Given the description of an element on the screen output the (x, y) to click on. 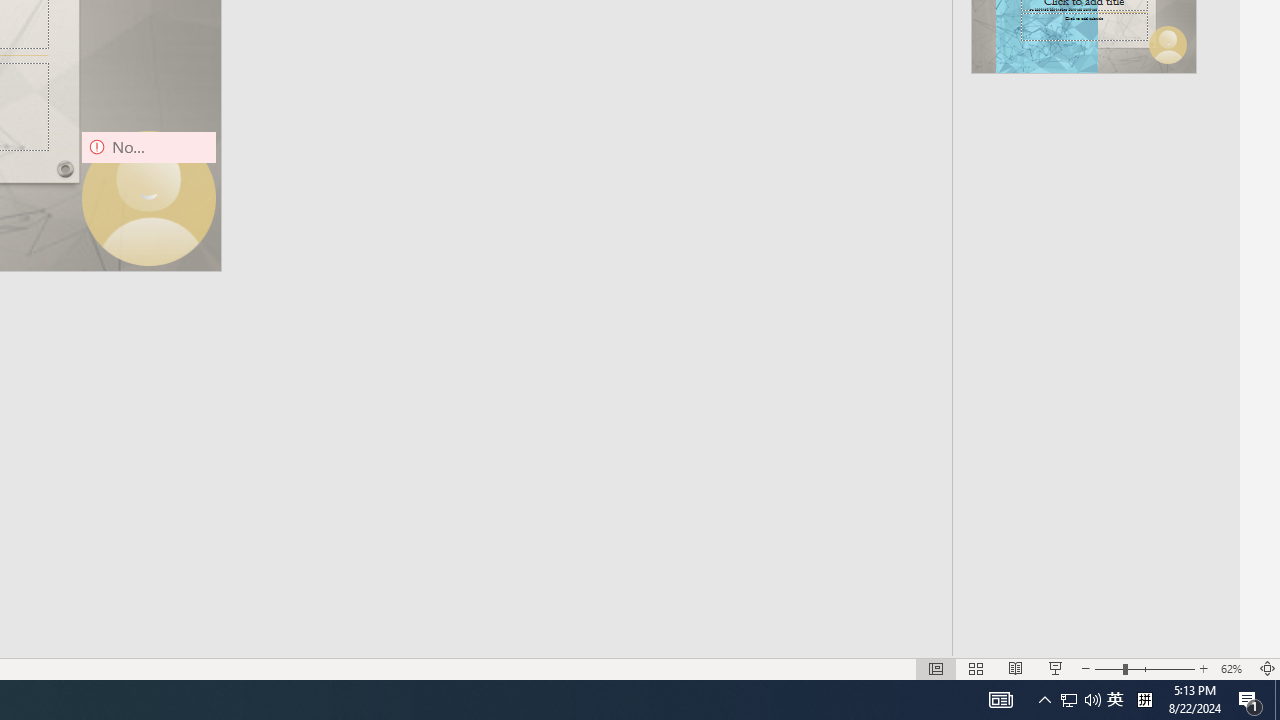
Retry (1189, 546)
